Given the description of an element on the screen output the (x, y) to click on. 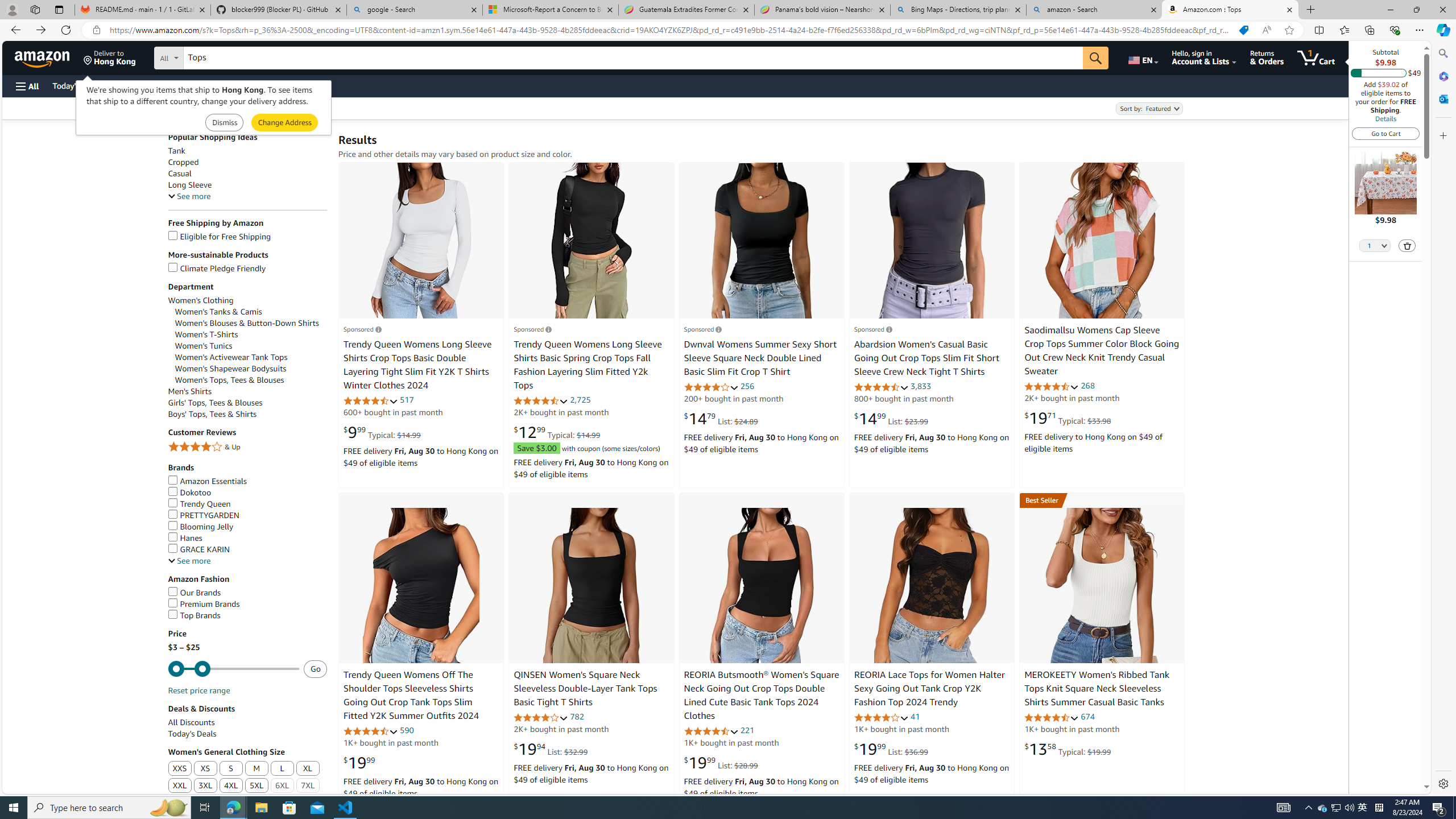
Eligible for Free Shipping (247, 236)
L (282, 768)
4.2 out of 5 stars (541, 717)
Casual (247, 173)
